Given the description of an element on the screen output the (x, y) to click on. 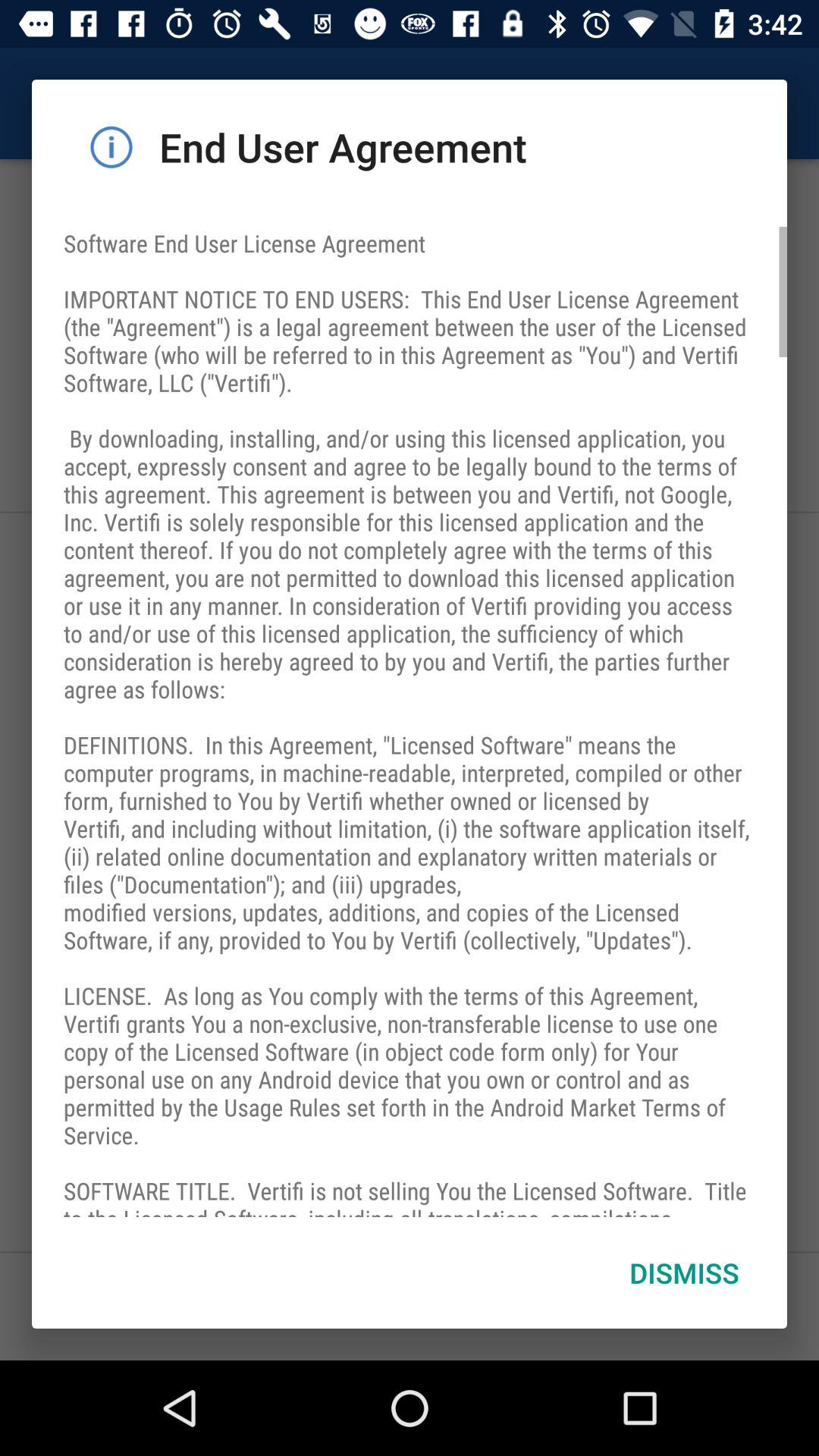
open the icon below the software end user icon (684, 1272)
